Given the description of an element on the screen output the (x, y) to click on. 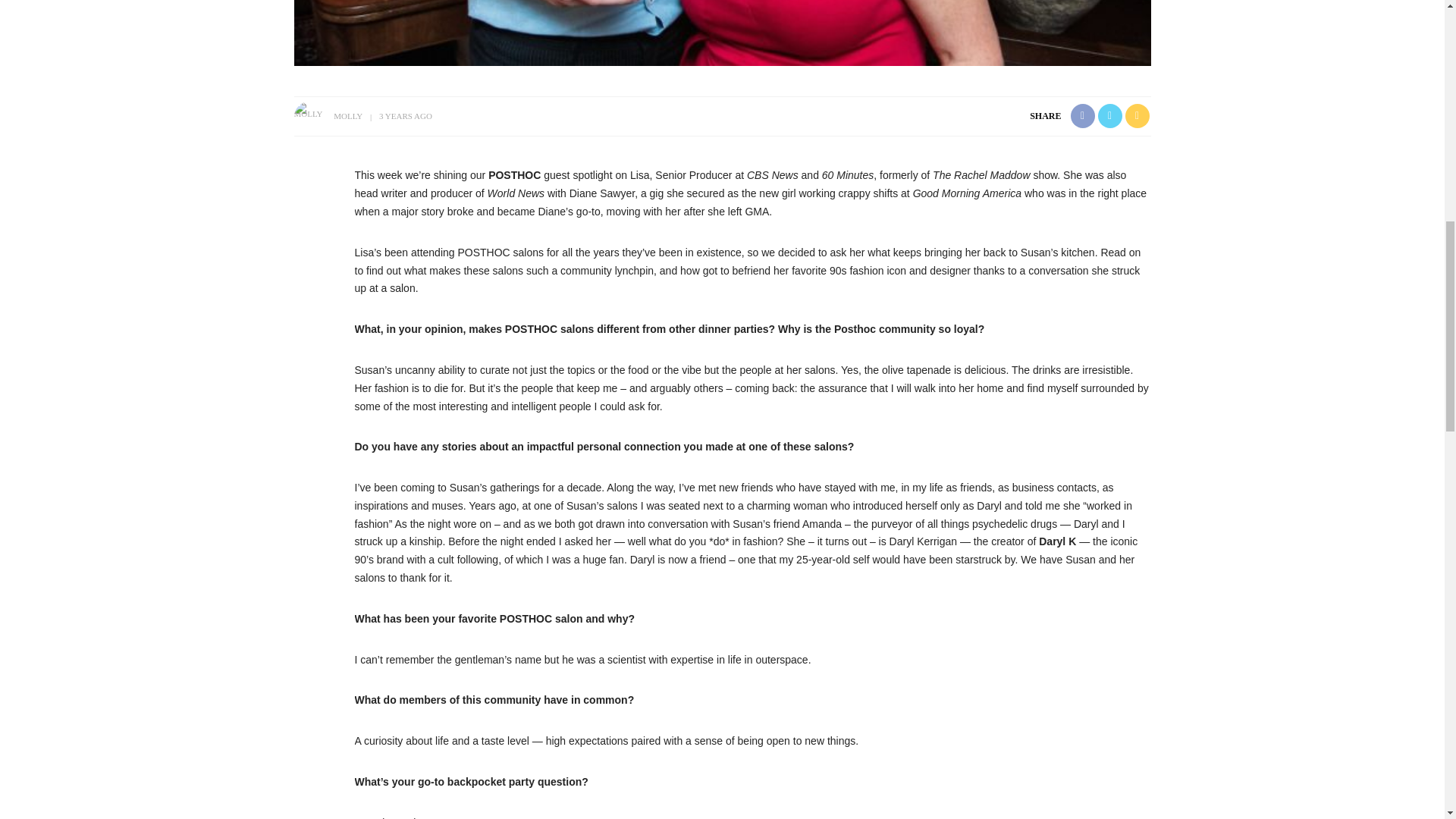
POSTHOC (513, 174)
MOLLY (347, 115)
Daryl K (1057, 541)
Post by Molly (347, 115)
